Given the description of an element on the screen output the (x, y) to click on. 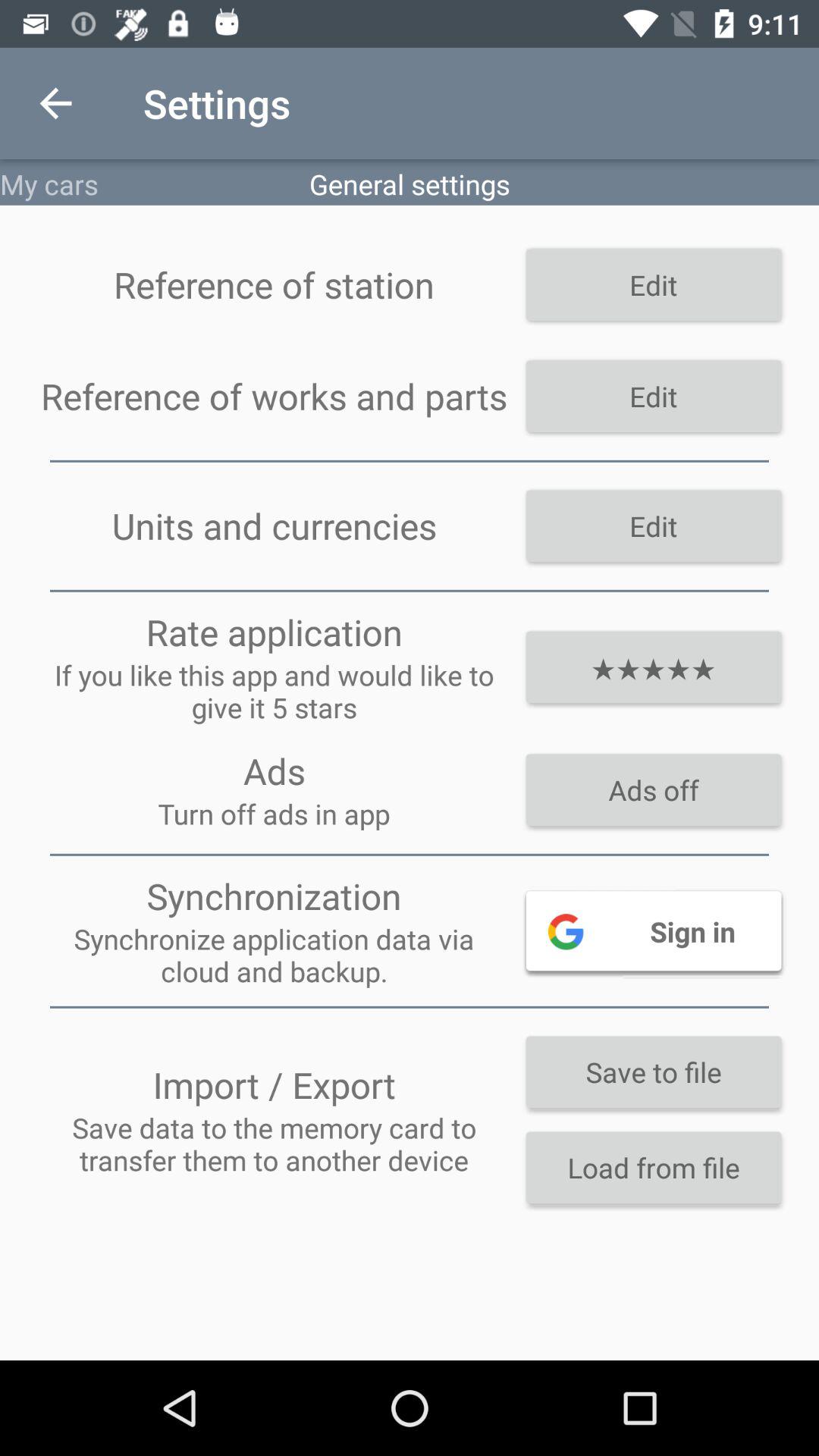
select the icon to the right of synchronization icon (653, 930)
